Given the description of an element on the screen output the (x, y) to click on. 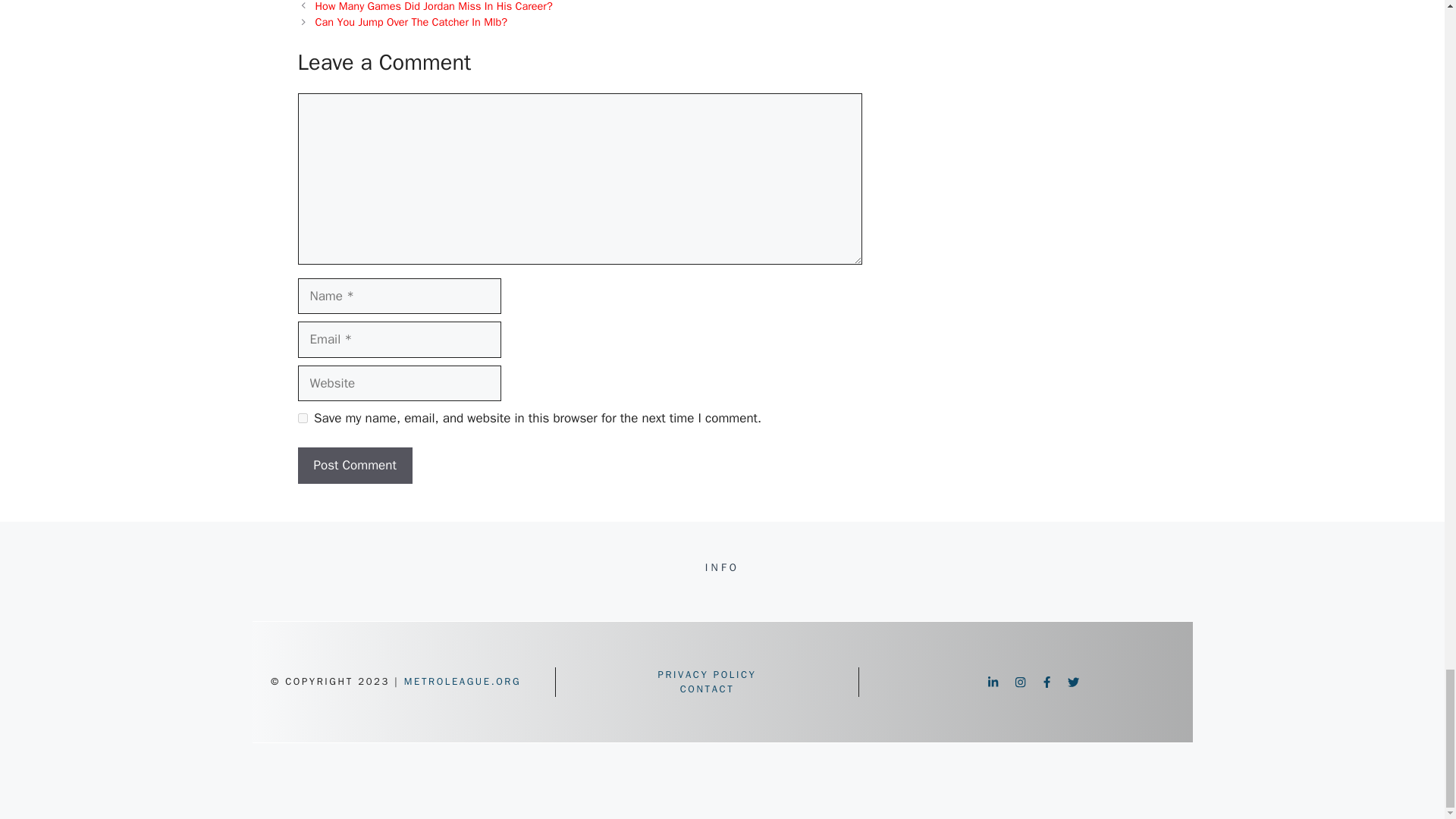
Post Comment (354, 465)
Post Comment (354, 465)
Can You Jump Over The Catcher In Mlb? (410, 21)
How Many Games Did Jordan Miss In His Career? (434, 6)
yes (302, 418)
